Given the description of an element on the screen output the (x, y) to click on. 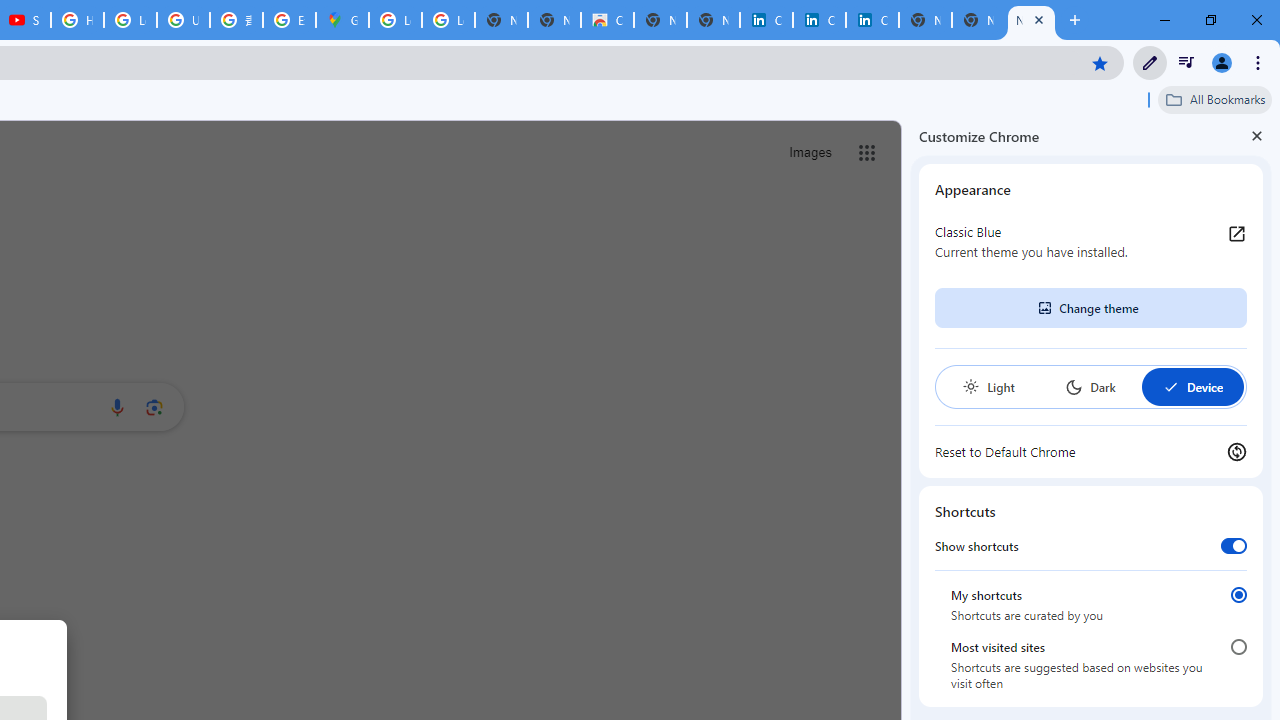
Copyright Policy (872, 20)
Explore new street-level details - Google Maps Help (289, 20)
How Chrome protects your passwords - Google Chrome Help (77, 20)
Device (1192, 386)
All Bookmarks (1215, 99)
Light (988, 386)
Customize Chrome (1149, 62)
AutomationID: baseSvg (1170, 386)
Cookie Policy | LinkedIn (766, 20)
